Given the description of an element on the screen output the (x, y) to click on. 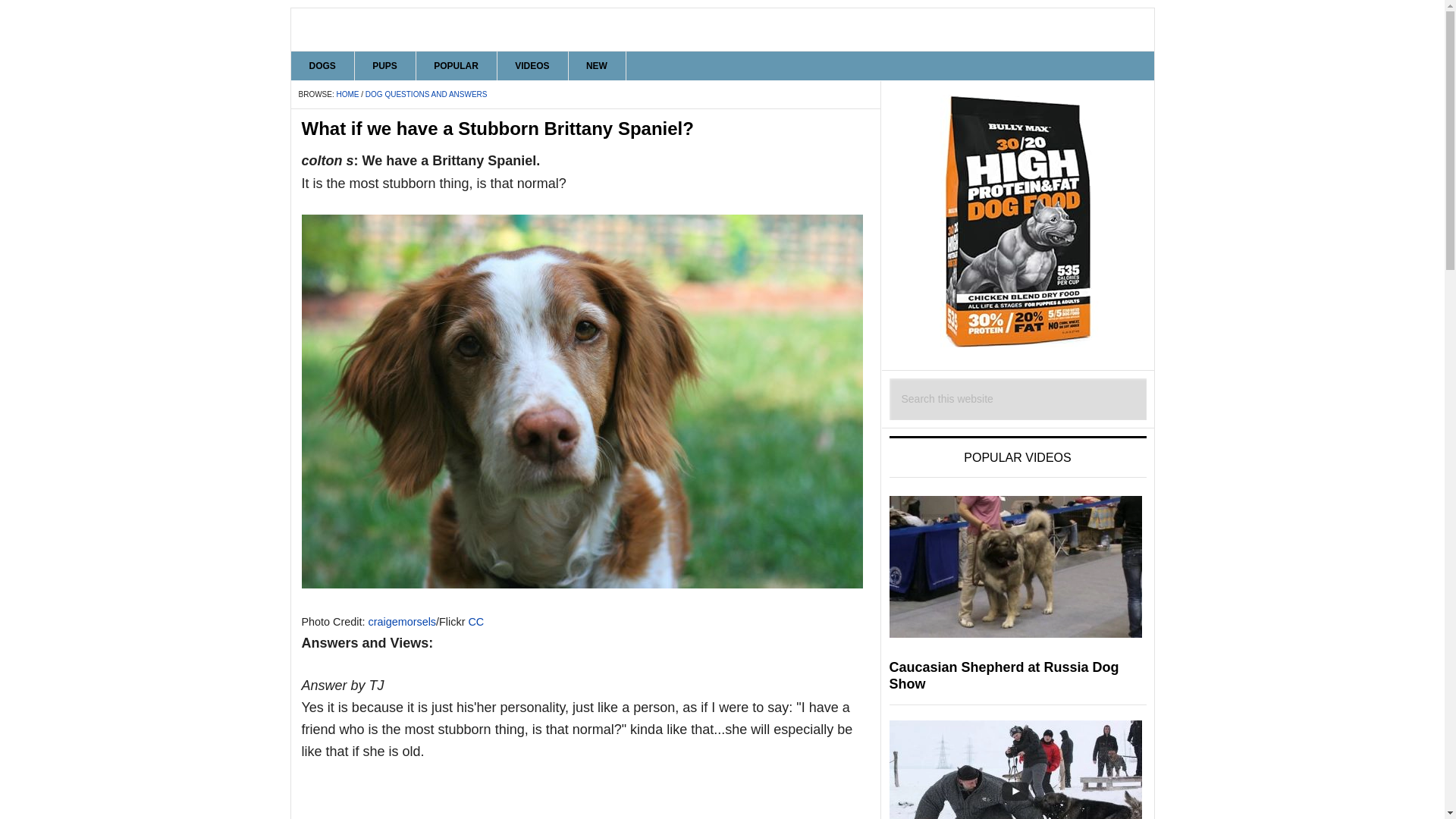
BUY IT ON AMAZON ! (1017, 221)
Advertisement (585, 800)
VIDEOS (531, 65)
Caucasian Shepherd at Russia Dog Show (1003, 675)
DOGS (323, 65)
craigemorsels (402, 621)
RUSSIAN DOG (722, 29)
POPULAR (455, 65)
HOME (347, 94)
PUPS (384, 65)
DOG QUESTIONS AND ANSWERS (426, 94)
NEW (596, 65)
CC (475, 621)
